Given the description of an element on the screen output the (x, y) to click on. 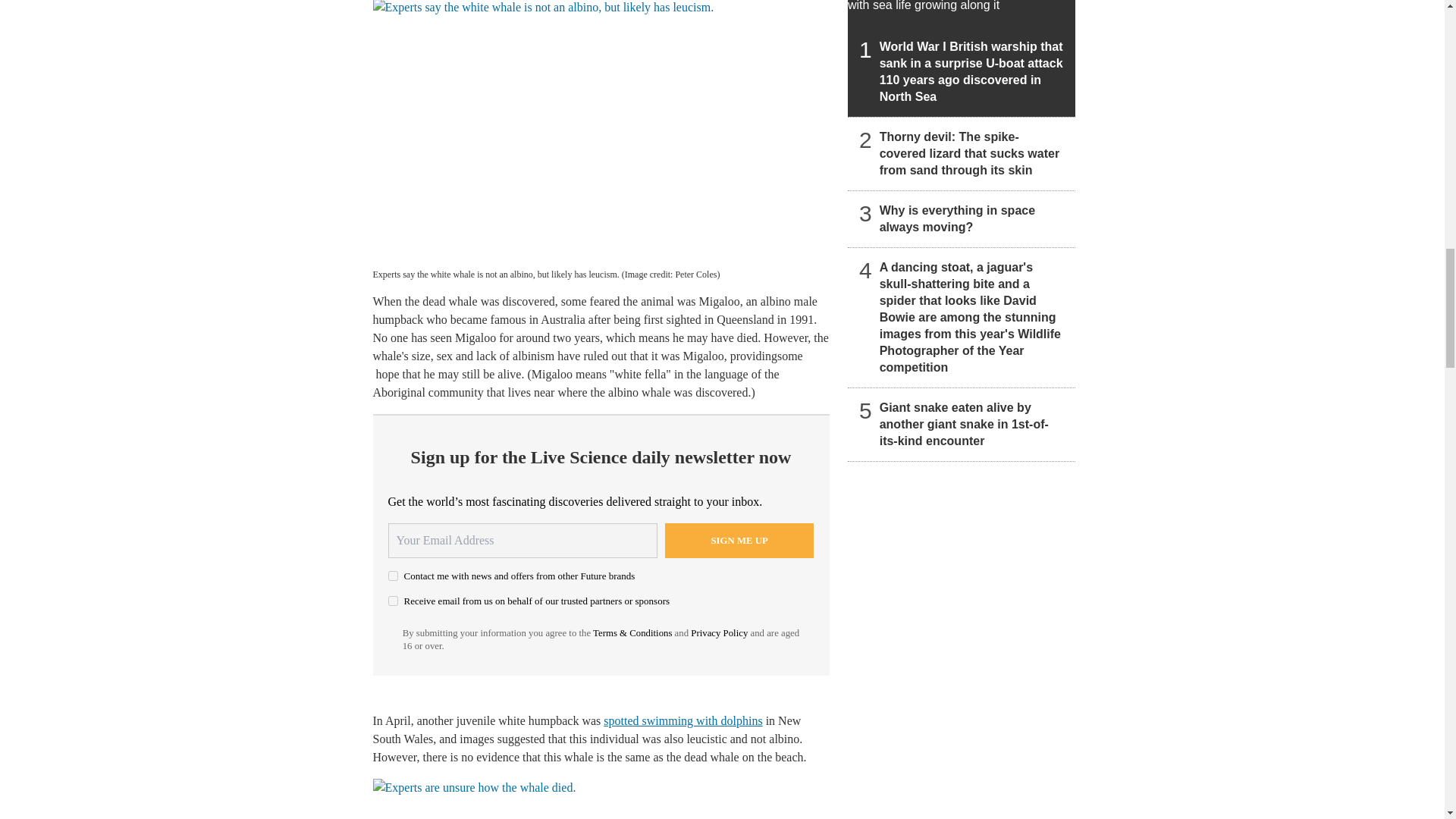
on (392, 601)
Sign me up (739, 540)
on (392, 575)
